Given the description of an element on the screen output the (x, y) to click on. 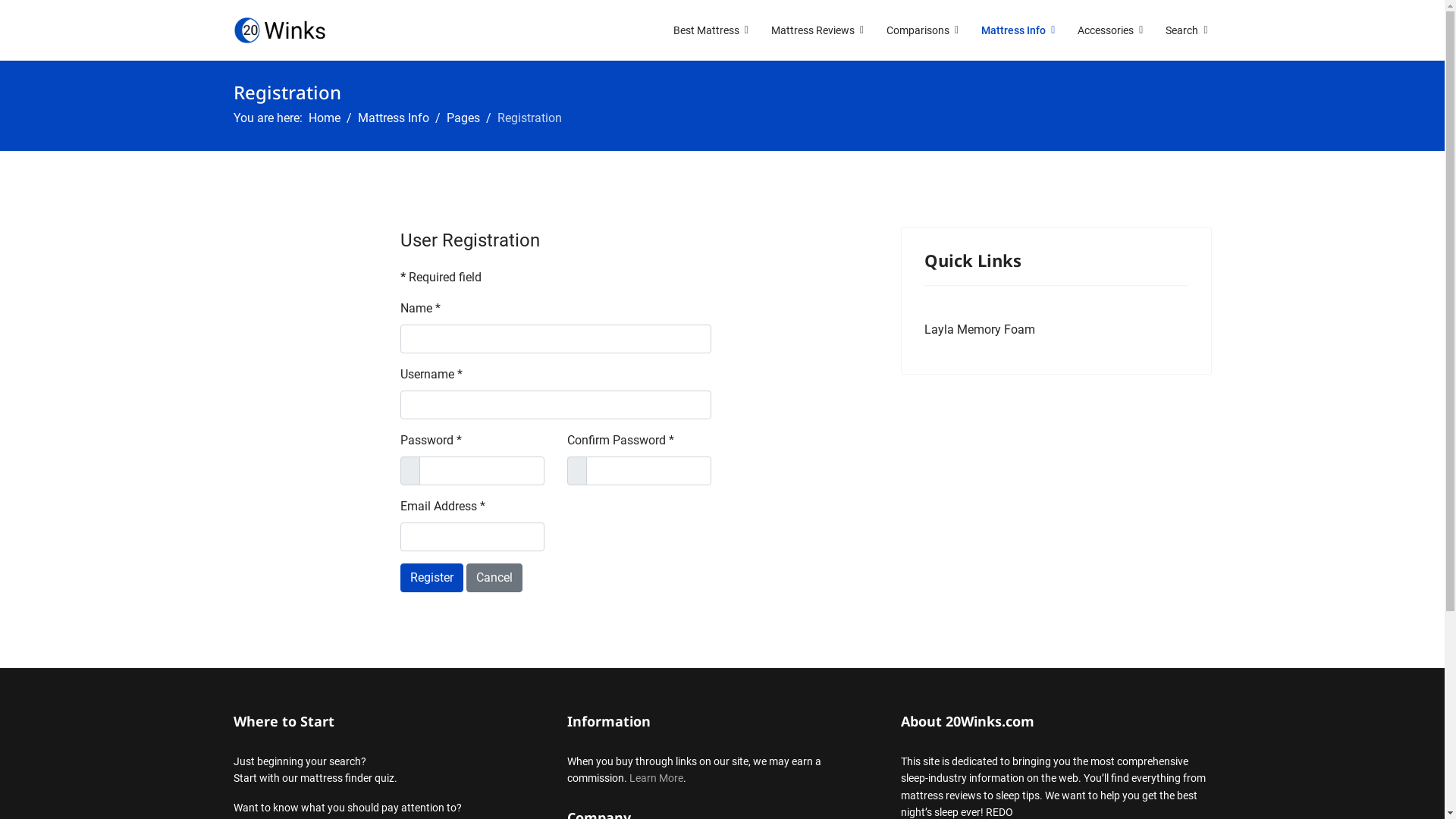
Mattress Reviews Element type: text (817, 30)
Best Mattress Element type: text (710, 30)
Pages Element type: text (462, 117)
Home Element type: text (323, 117)
Layla Memory Foam Element type: text (978, 329)
Search Element type: text (1180, 30)
Learn More Element type: text (656, 777)
Comparisons Element type: text (922, 30)
Register Element type: text (431, 577)
Mattress Info Element type: text (393, 117)
Cancel Element type: text (493, 577)
Accessories Element type: text (1110, 30)
Mattress Info Element type: text (1017, 30)
